Given the description of an element on the screen output the (x, y) to click on. 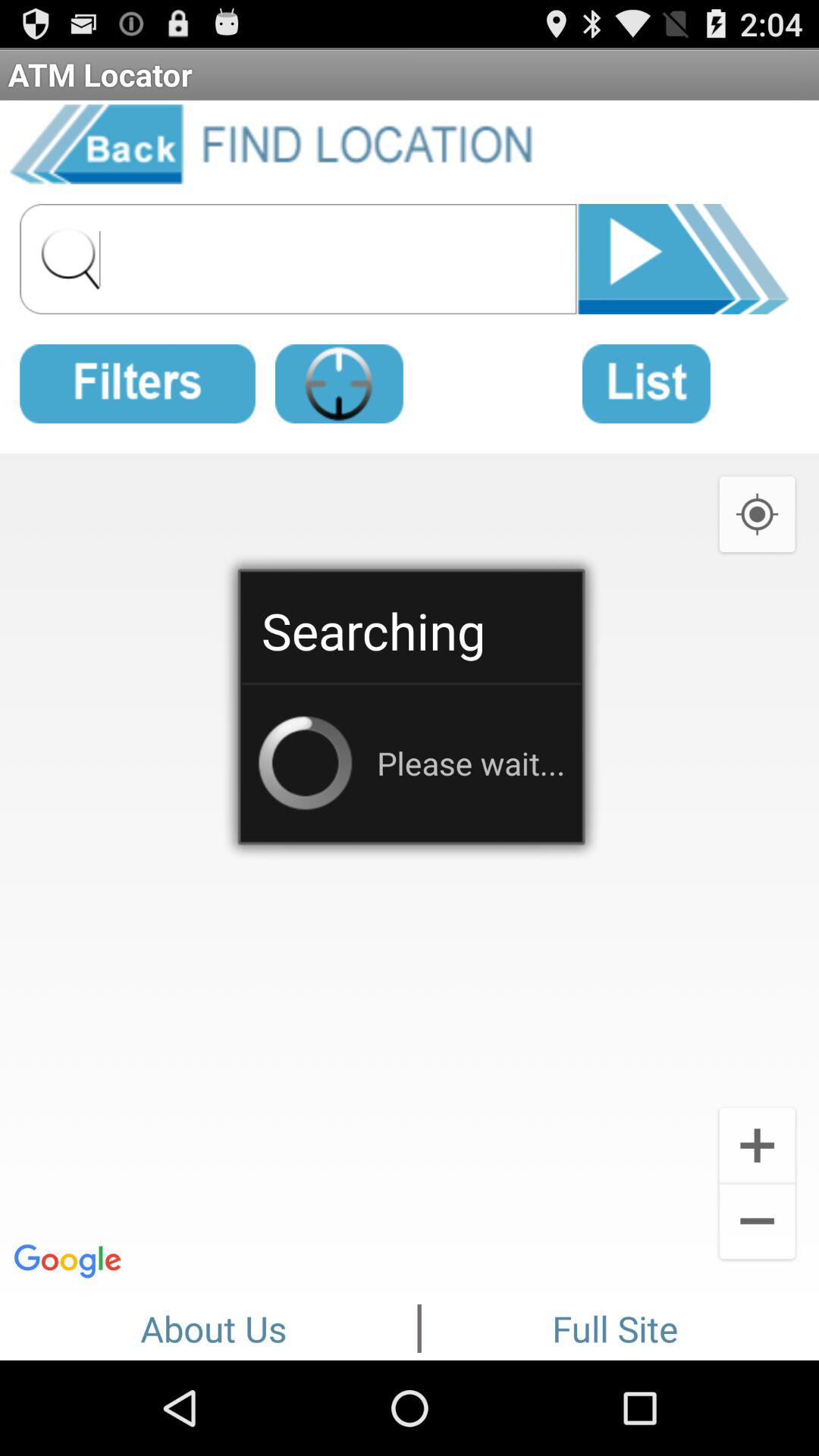
click the app below atm locator app (683, 256)
